Given the description of an element on the screen output the (x, y) to click on. 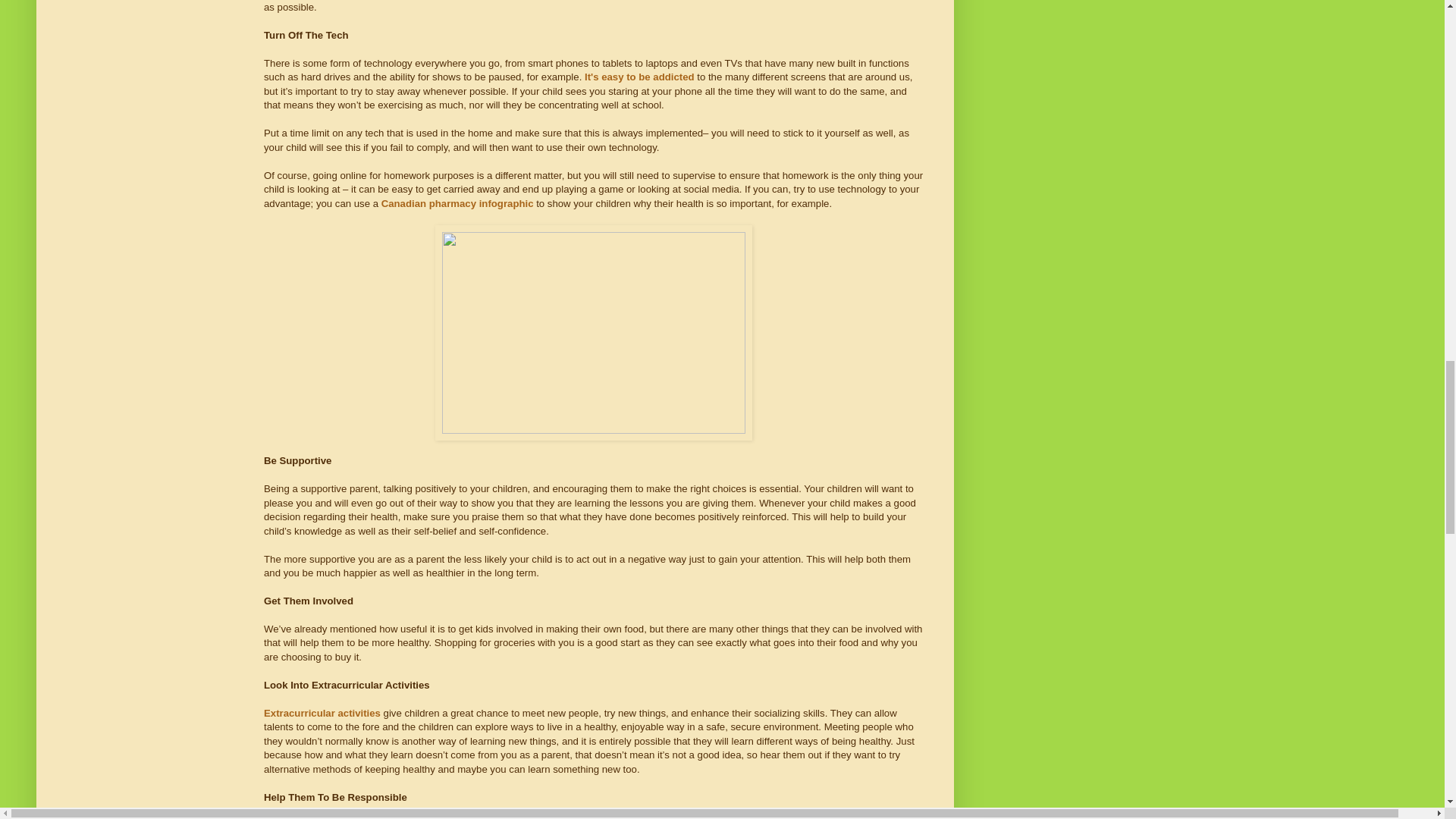
It's easy to be addicted (639, 76)
Canadian pharmacy infographic (457, 203)
Extracurricular activities (321, 713)
